Given the description of an element on the screen output the (x, y) to click on. 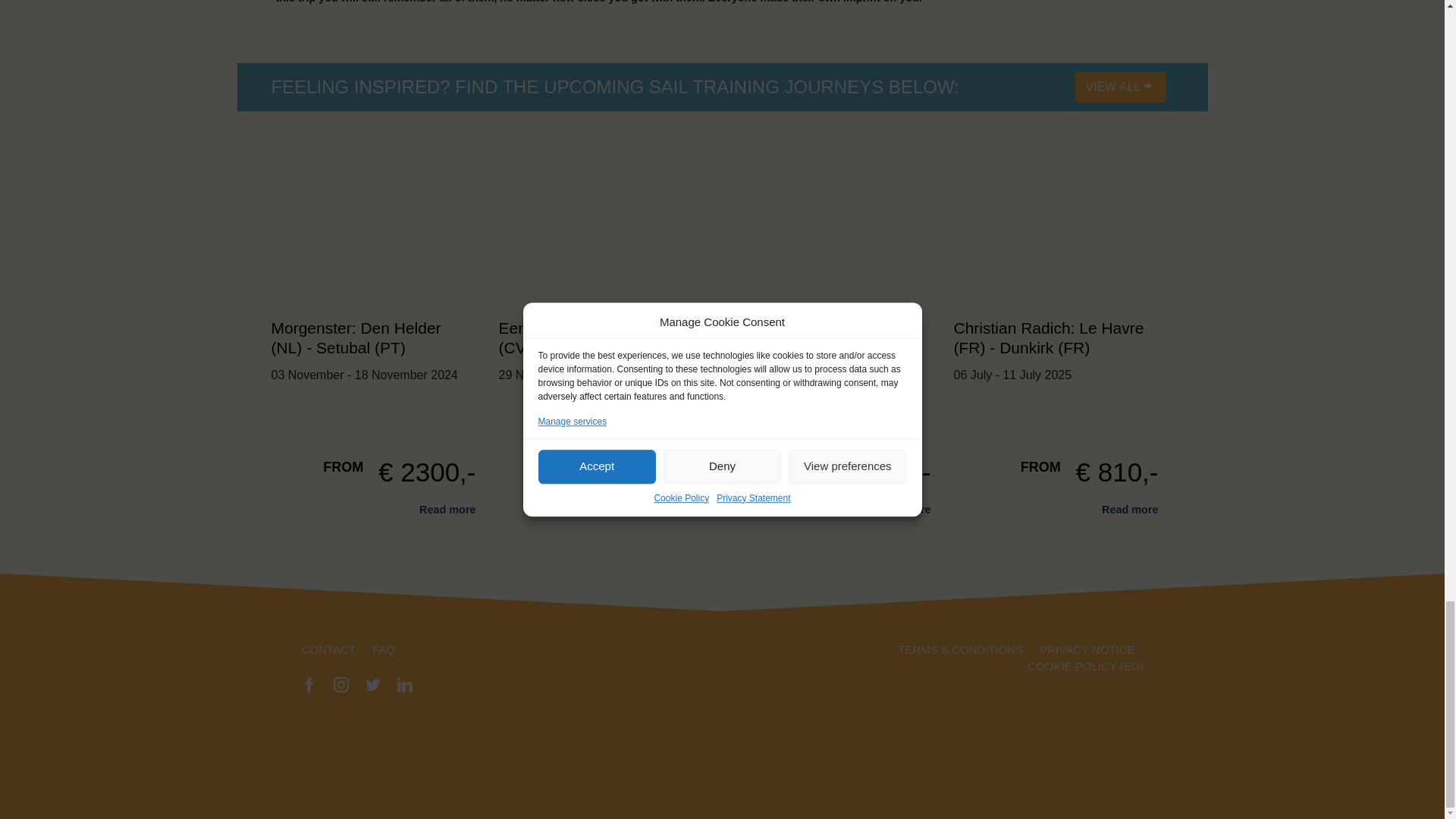
Facebook (309, 684)
Instagram (341, 684)
LinkedIn (404, 684)
Twitter (372, 684)
